Given the description of an element on the screen output the (x, y) to click on. 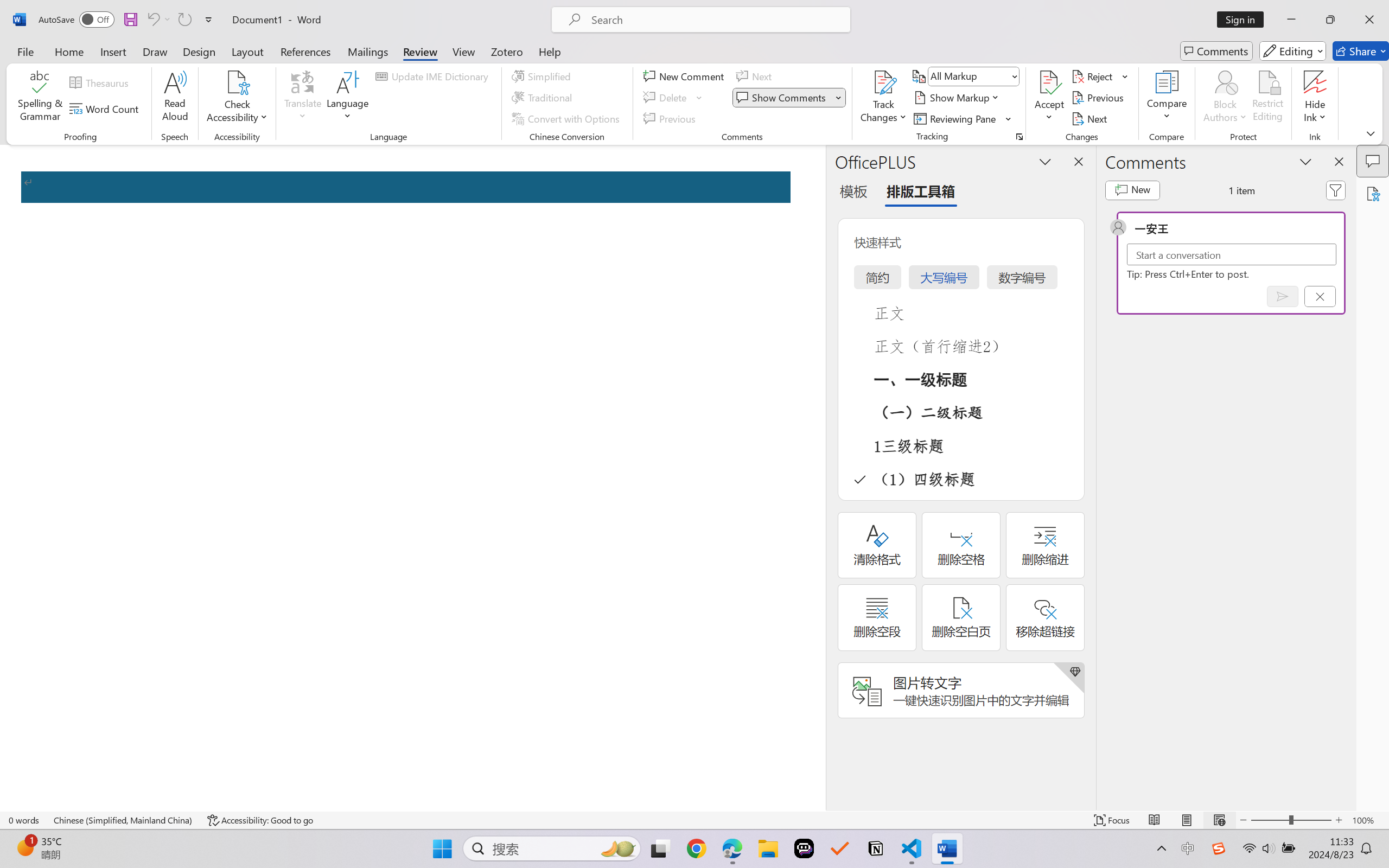
Cancel (1320, 296)
Accept (1049, 97)
Block Authors (1224, 97)
Start a conversation (1231, 254)
